Given the description of an element on the screen output the (x, y) to click on. 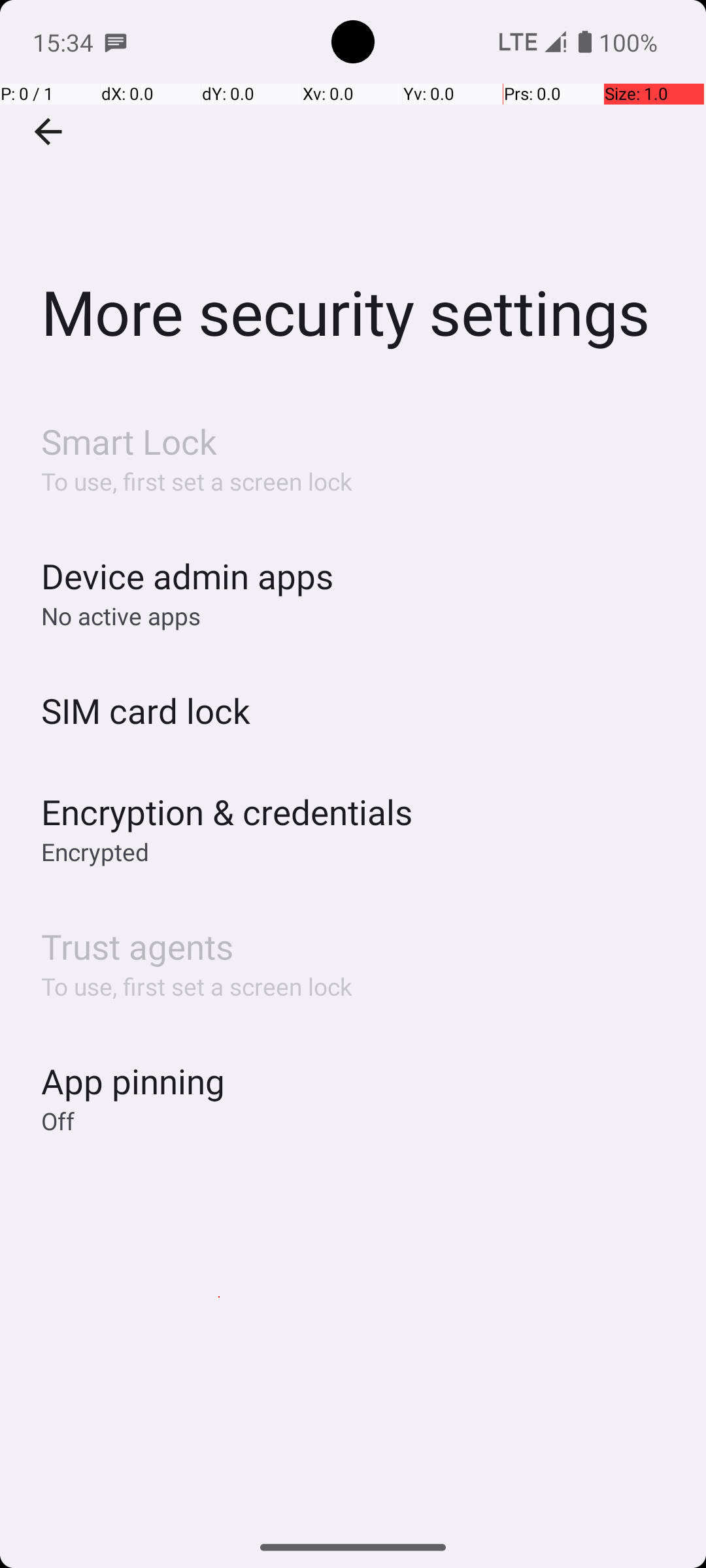
More security settings Element type: android.widget.FrameLayout (353, 195)
Smart Lock Element type: android.widget.TextView (129, 441)
To use, first set a screen lock Element type: android.widget.TextView (196, 480)
Device admin apps Element type: android.widget.TextView (187, 575)
No active apps Element type: android.widget.TextView (120, 615)
SIM card lock Element type: android.widget.TextView (145, 710)
Encryption & credentials Element type: android.widget.TextView (226, 811)
Encrypted Element type: android.widget.TextView (95, 851)
Trust agents Element type: android.widget.TextView (137, 946)
App pinning Element type: android.widget.TextView (132, 1080)
